Given the description of an element on the screen output the (x, y) to click on. 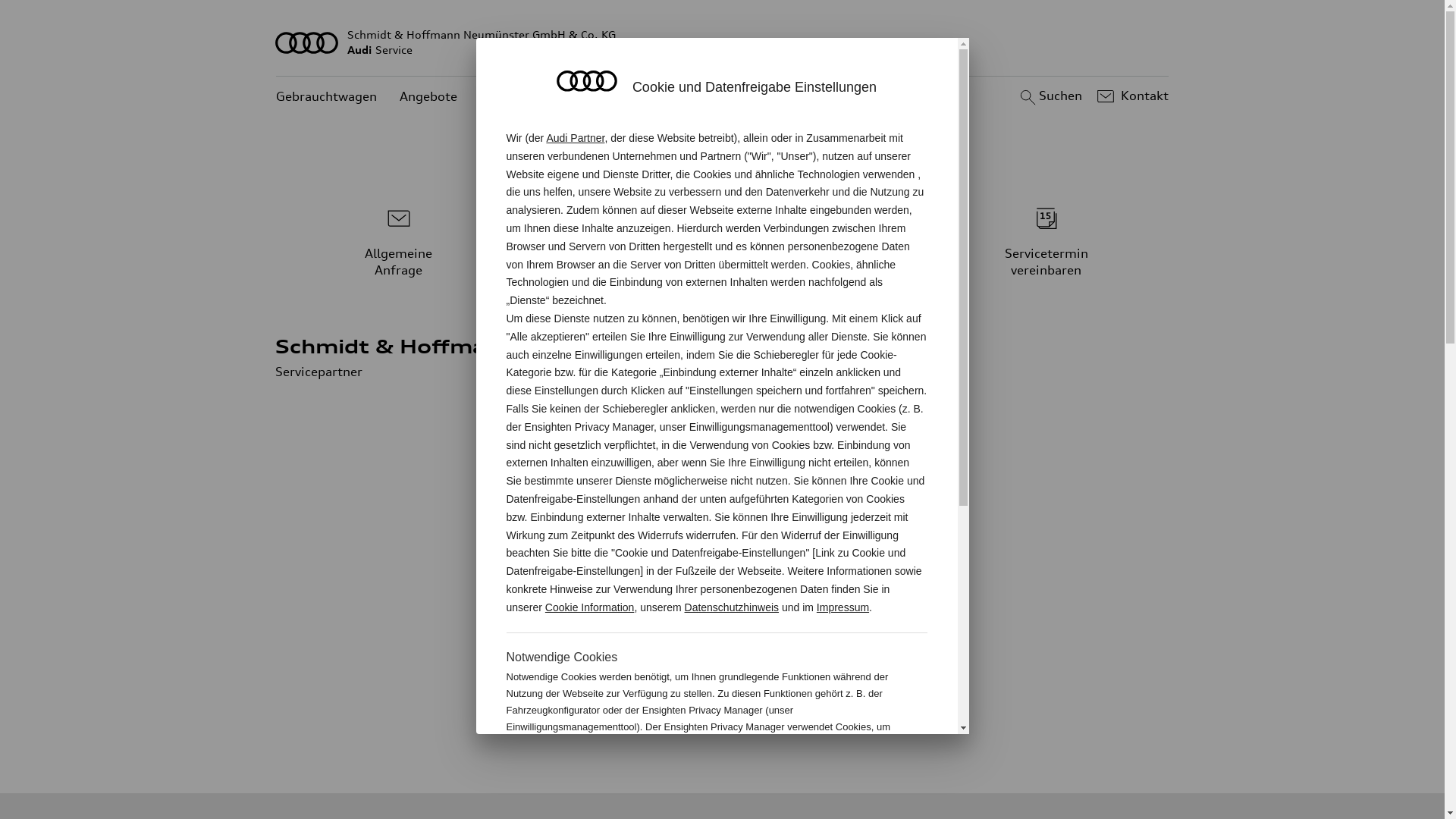
Suchen Element type: text (1049, 96)
Serviceberater
kontaktieren Element type: text (722, 238)
Kundenservice Element type: text (523, 96)
Kontaktdaten herunterladen Element type: text (827, 589)
Angebote Element type: text (428, 96)
Audi Partner Element type: text (575, 137)
Servicetermin
vereinbaren Element type: text (1046, 238)
Cookie Information Element type: text (847, 776)
Pinterest Element type: hover (658, 721)
+49 4321 94940 Element type: text (839, 471)
Facebook Element type: hover (724, 721)
Datenschutzhinweis Element type: text (731, 607)
In myAudi speichern Element type: text (802, 617)
Anfahrt Element type: text (765, 562)
YouTube Element type: hover (791, 721)
Allgemeine
Anfrage Element type: text (398, 238)
Kontakt Element type: text (1130, 96)
Cookie Information Element type: text (589, 607)
info@vw-nms.de Element type: text (808, 526)
Instagram Element type: hover (858, 721)
Gebrauchtwagen Element type: text (326, 96)
Twitter Element type: hover (591, 721)
Impressum Element type: text (842, 607)
